Given the description of an element on the screen output the (x, y) to click on. 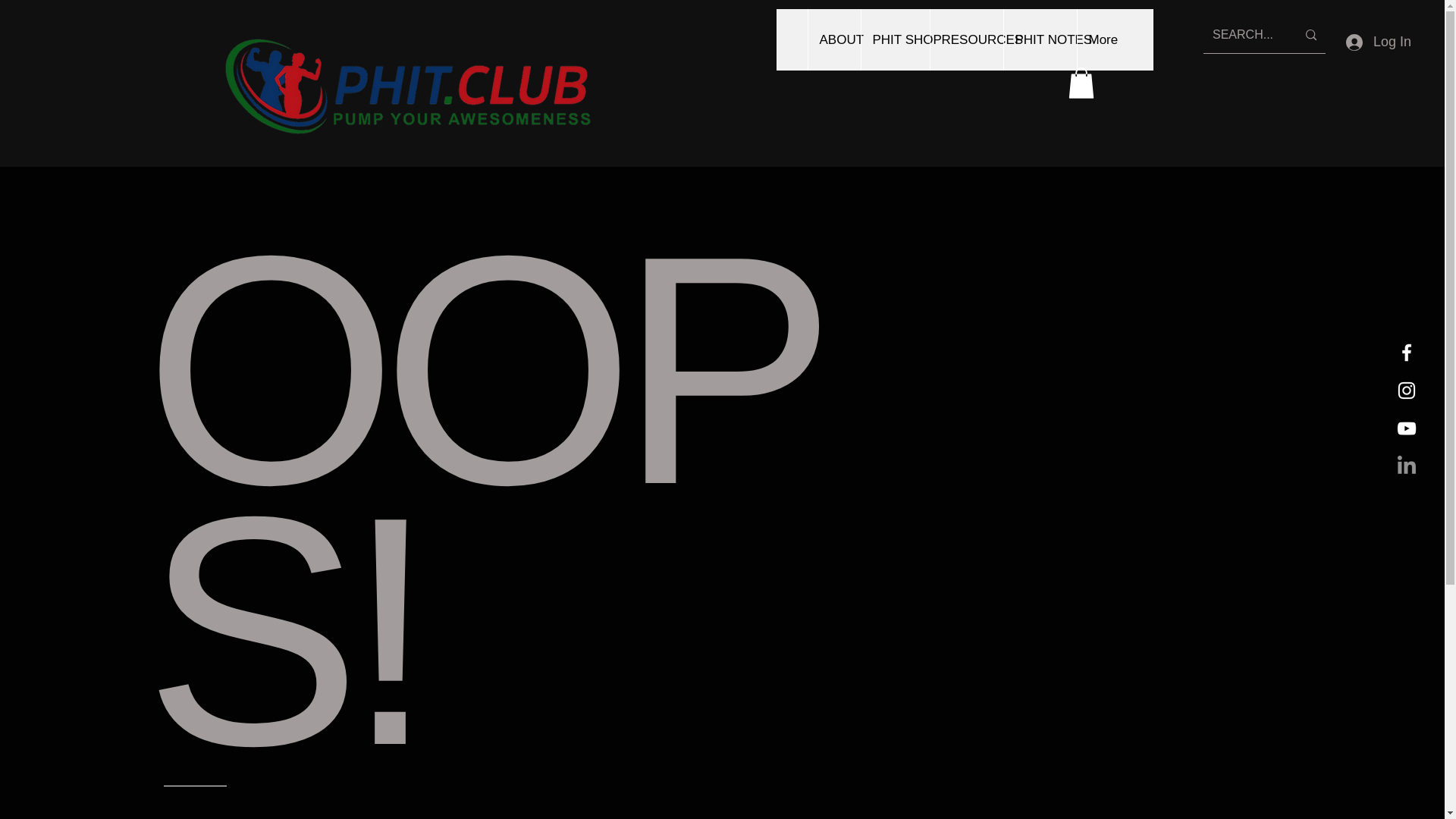
Log In (1378, 41)
Logo With Slogan.png (406, 85)
RESOURCES (966, 39)
PHIT NOTES (1039, 39)
